Given the description of an element on the screen output the (x, y) to click on. 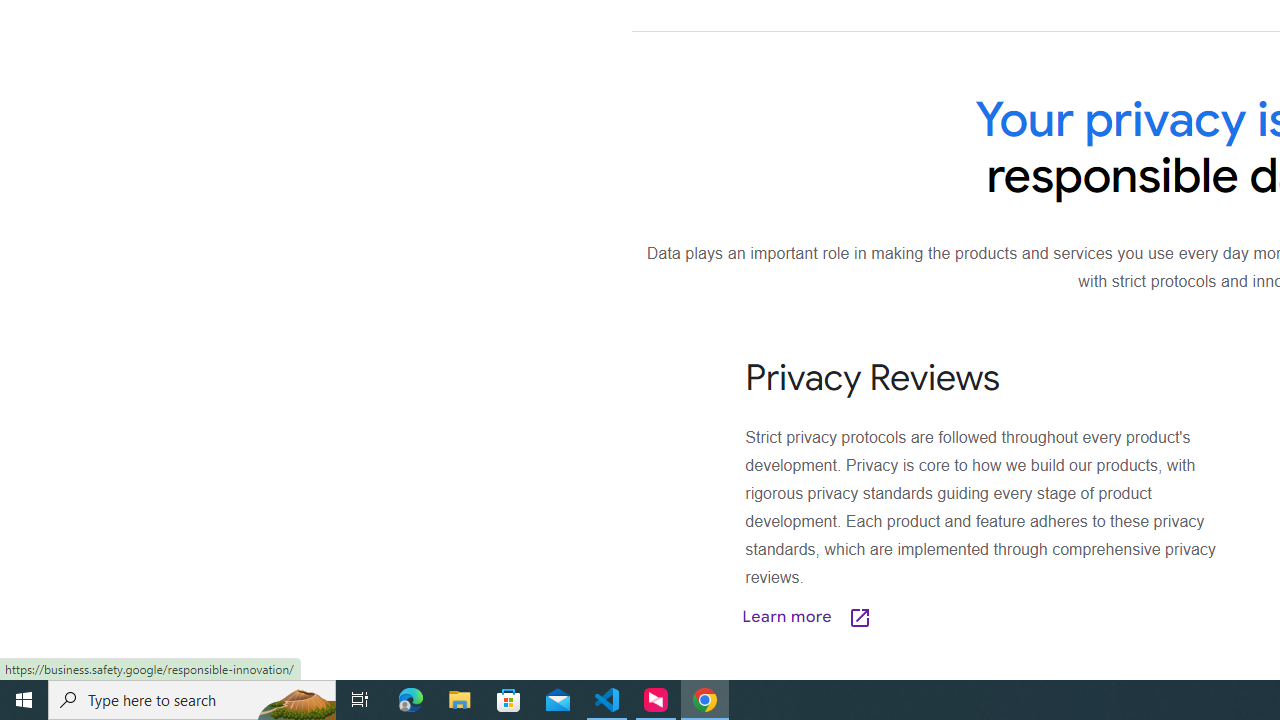
Learn more  (907, 616)
